Given the description of an element on the screen output the (x, y) to click on. 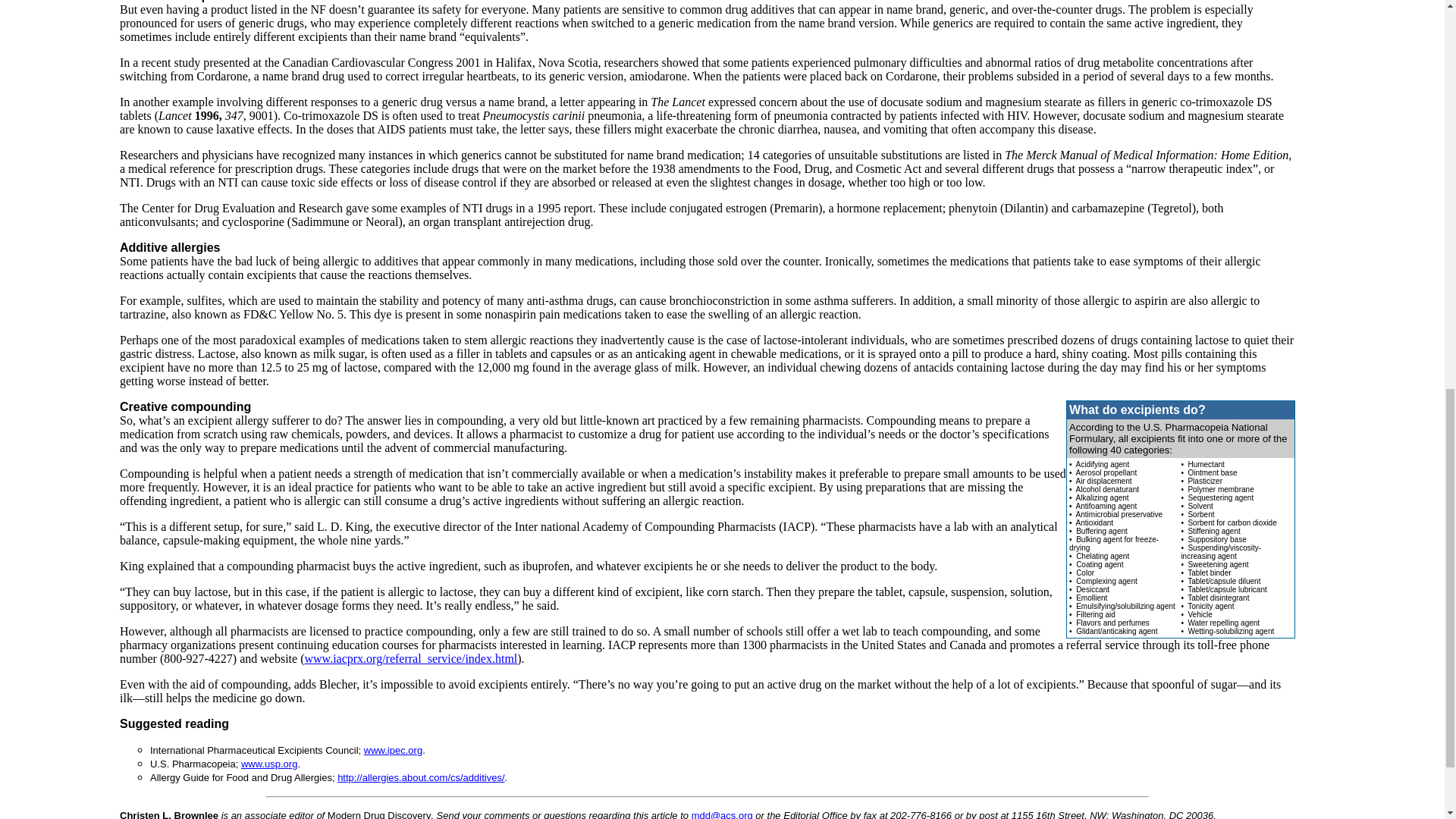
Allergy Guide for Food and Drug Allergies (420, 777)
www.ipec.org (393, 749)
email MDD (721, 814)
International Pharmaceutical Excipients Council (393, 749)
www.usp.org (269, 763)
U.S. Pharmacopeia (269, 763)
